Given the description of an element on the screen output the (x, y) to click on. 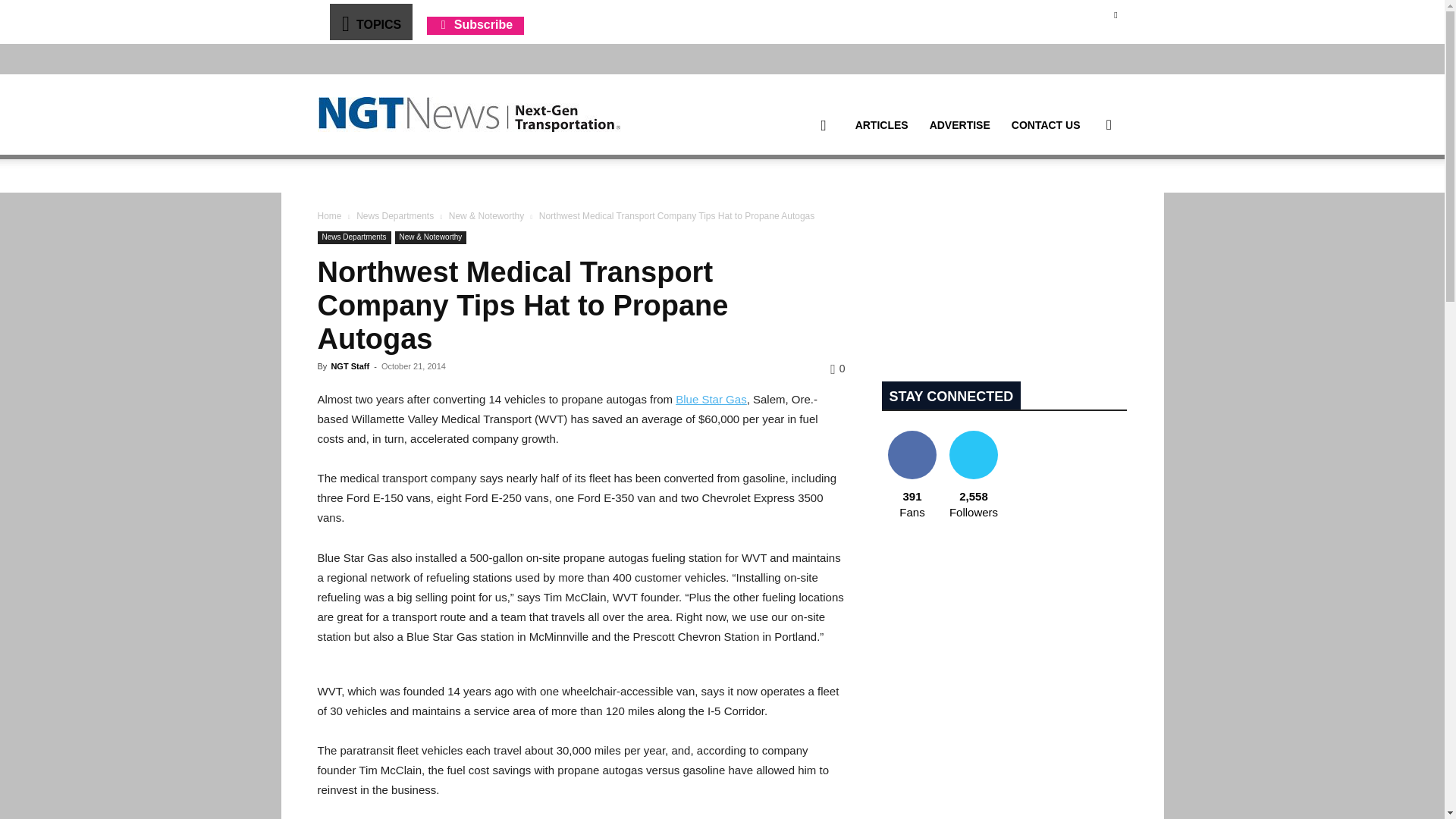
Alternative Fuel News, CNG News (468, 114)
TOPICS (370, 22)
Twitter (1114, 14)
ARTICLES (881, 124)
Subscribe (475, 24)
NGT News (468, 114)
Search (1085, 197)
